Given the description of an element on the screen output the (x, y) to click on. 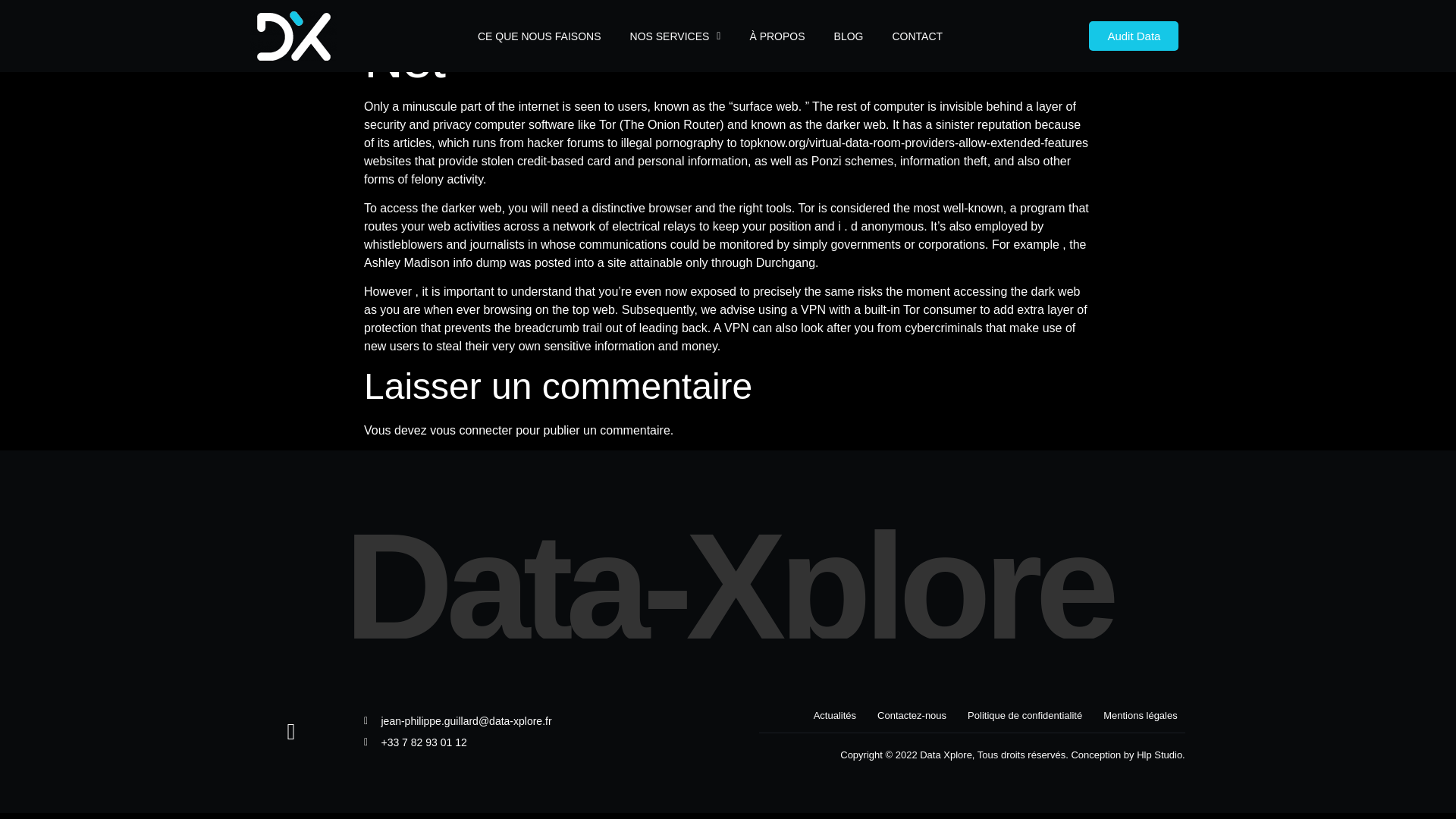
CONTACT (916, 36)
Audit Data (1133, 35)
Contactez-nous (911, 715)
vous connecter (470, 430)
CE QUE NOUS FAISONS (539, 36)
NOS SERVICES (675, 36)
Logo-data-xplore-blanc-bleu (293, 35)
